Given the description of an element on the screen output the (x, y) to click on. 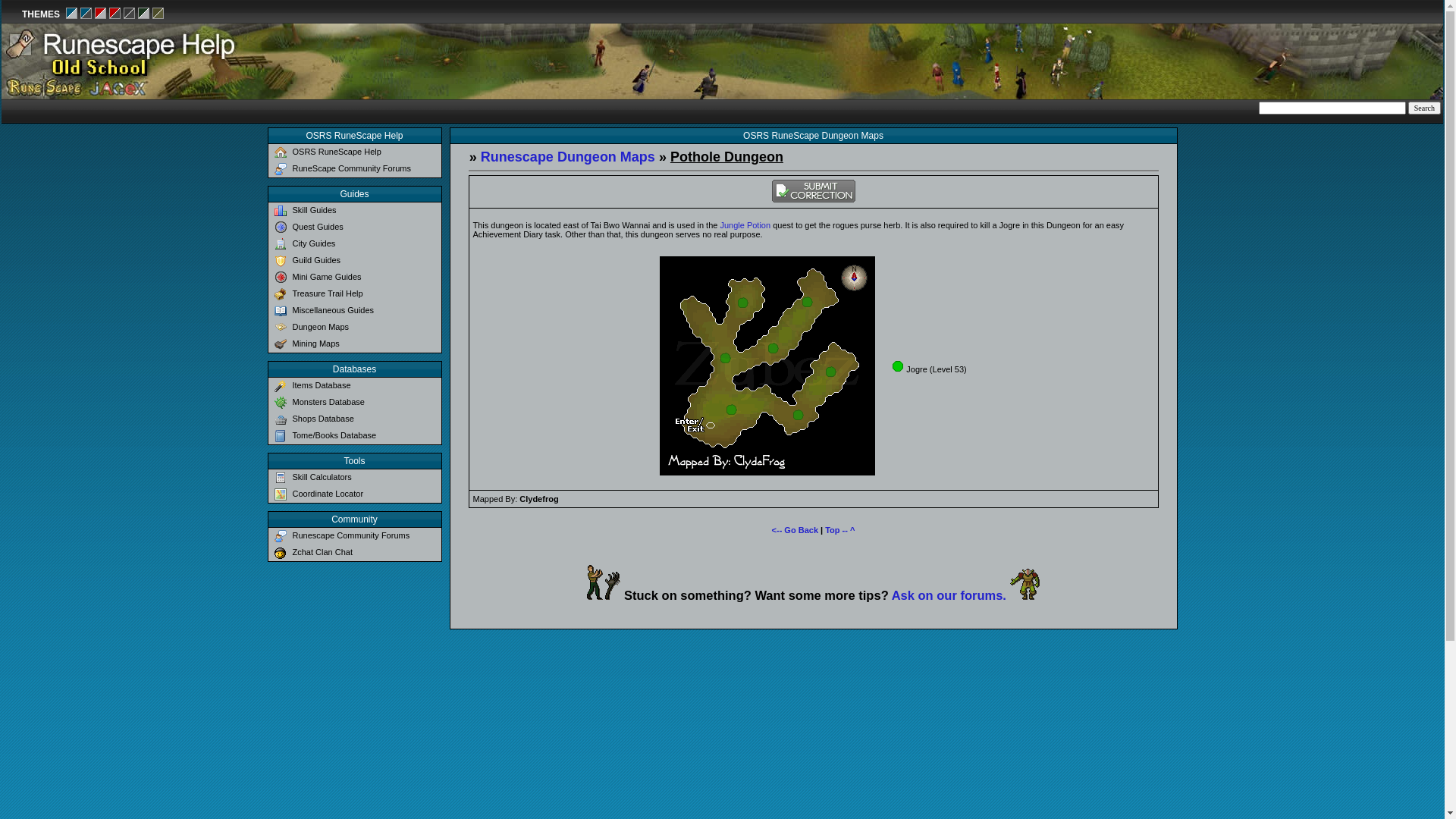
Tome/Books Database Element type: text (354, 435)
Items Database Element type: text (354, 385)
Search Element type: text (1424, 107)
Dungeon Maps Element type: text (354, 327)
Top -- ^ Element type: text (839, 529)
Jungle Potion Element type: text (744, 224)
<-- Go Back Element type: text (794, 529)
RuneScape Community Forums Element type: text (354, 168)
Shops Database Element type: text (354, 419)
Dark Green Element type: hover (144, 15)
Advertisement Element type: hover (1164, 62)
Skill Calculators Element type: text (354, 477)
Zchat Clan Chat Element type: text (354, 552)
Submit a Correction Element type: hover (813, 198)
Ask on our forums. Element type: text (948, 595)
Skill Guides Element type: text (354, 210)
Old-School RuneScape Help Element type: hover (361, 61)
Coordinate Locator Element type: text (354, 494)
Default Theme Element type: hover (71, 15)
Runescape Dungeon Maps Element type: text (567, 156)
Miscellaneous Guides Element type: text (354, 310)
Red Black Element type: hover (115, 15)
Monsters Database Element type: text (354, 402)
Charcoal Element type: hover (129, 15)
OSRS RuneScape Help Element type: text (354, 152)
Black Blue Element type: hover (86, 15)
Quest Guides Element type: text (354, 227)
Guild Guides Element type: text (354, 260)
Red Gray Element type: hover (100, 15)
Olive Drab Element type: hover (158, 15)
Treasure Trail Help Element type: text (354, 293)
City Guides Element type: text (354, 243)
Runescape Community Forums Element type: text (354, 535)
Mining Maps Element type: text (354, 343)
Mini Game Guides Element type: text (354, 277)
